Given the description of an element on the screen output the (x, y) to click on. 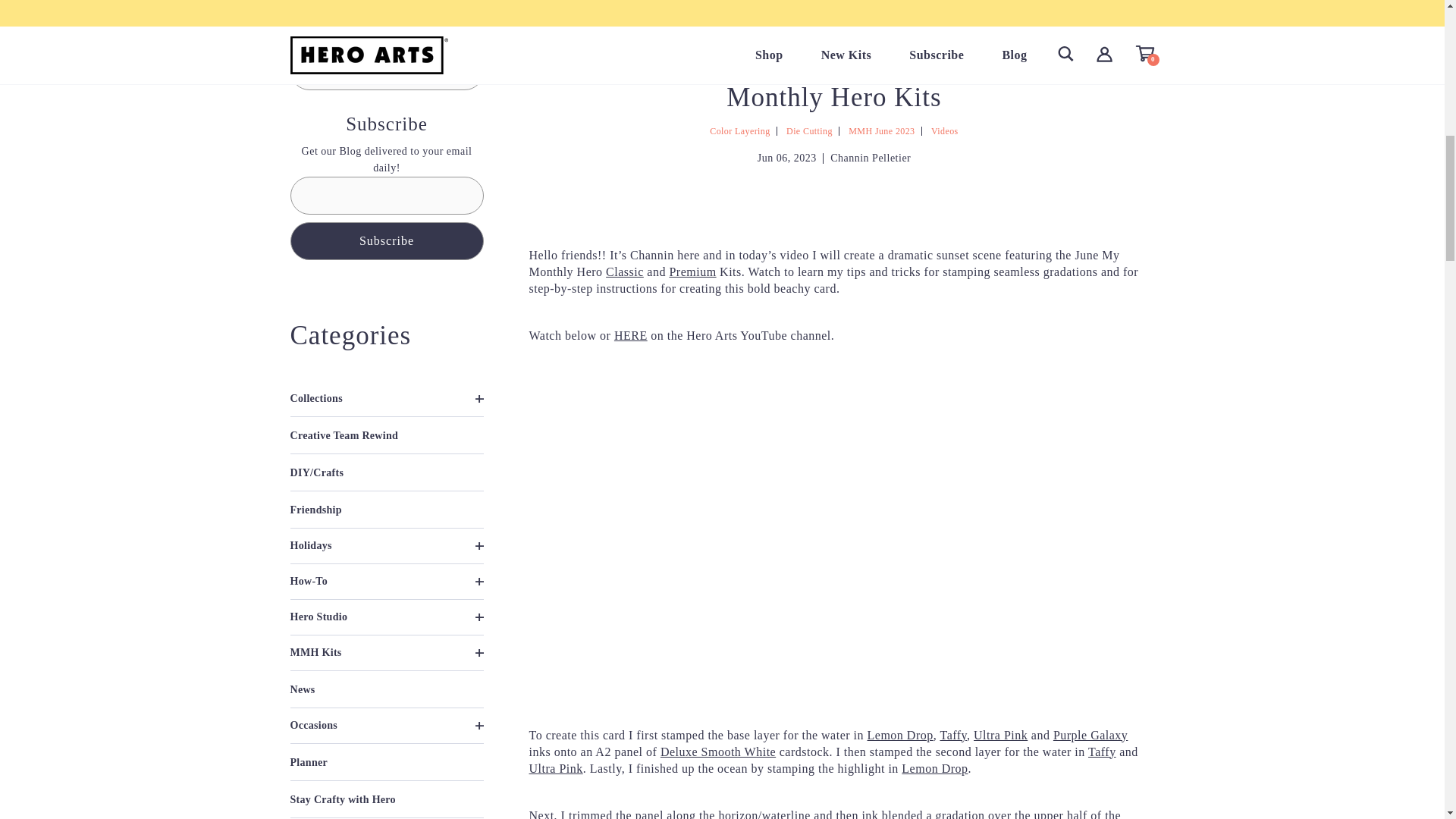
Subscribe (386, 240)
Hero Arts Blog tagged Creative Team Rewind (343, 434)
Hero Arts Blog tagged Collections (386, 398)
Hero Arts Blog tagged Holidays (386, 545)
Hero Arts Blog tagged Friendship (314, 509)
